Given the description of an element on the screen output the (x, y) to click on. 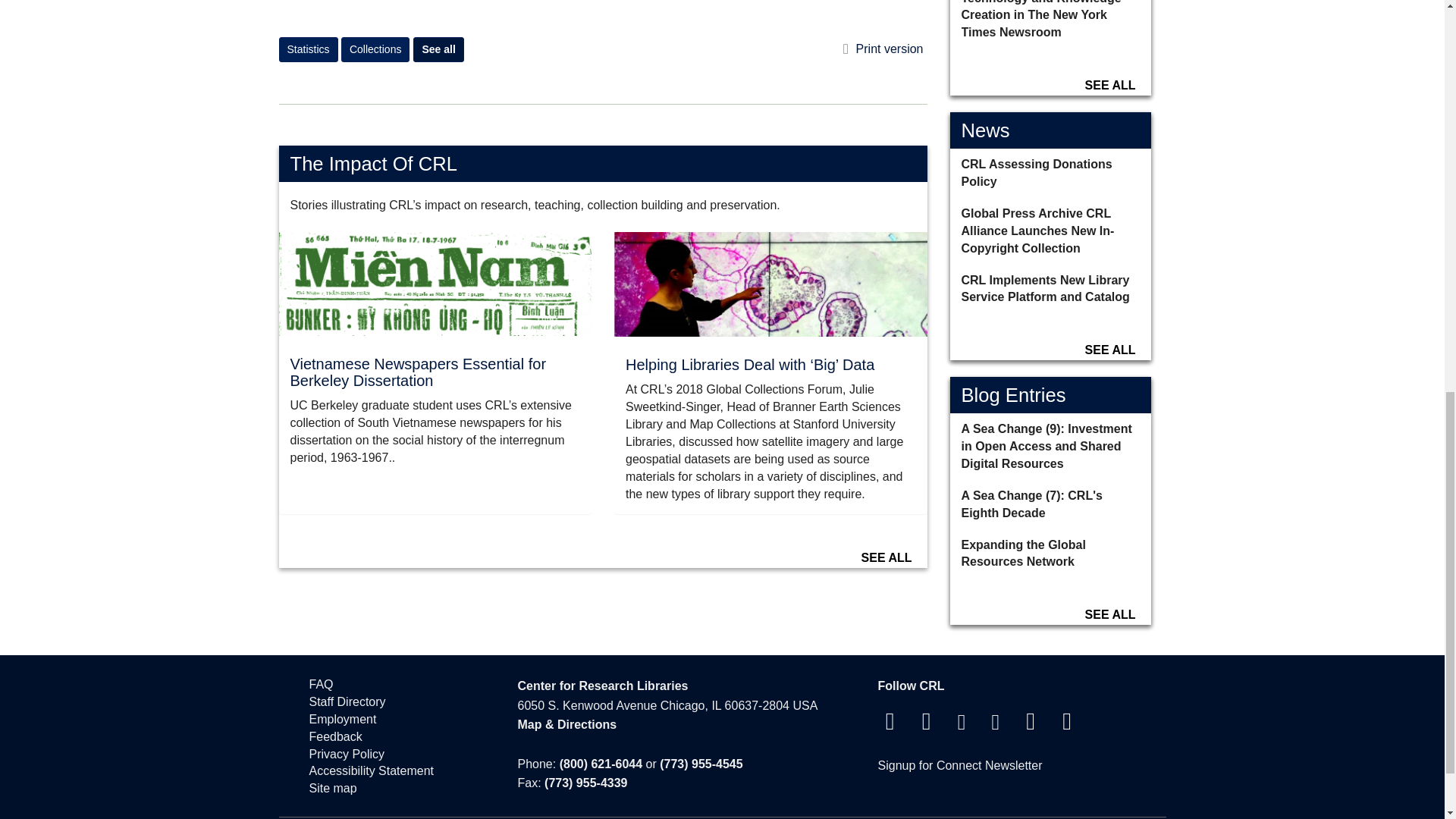
Follow CRL on Twitter (926, 725)
Display a printer-friendly version of this page. (883, 48)
Display a site map with RSS feeds. (397, 788)
Follow CRL on Instagram (961, 725)
Follow CRL on Facebook (889, 725)
